Given the description of an element on the screen output the (x, y) to click on. 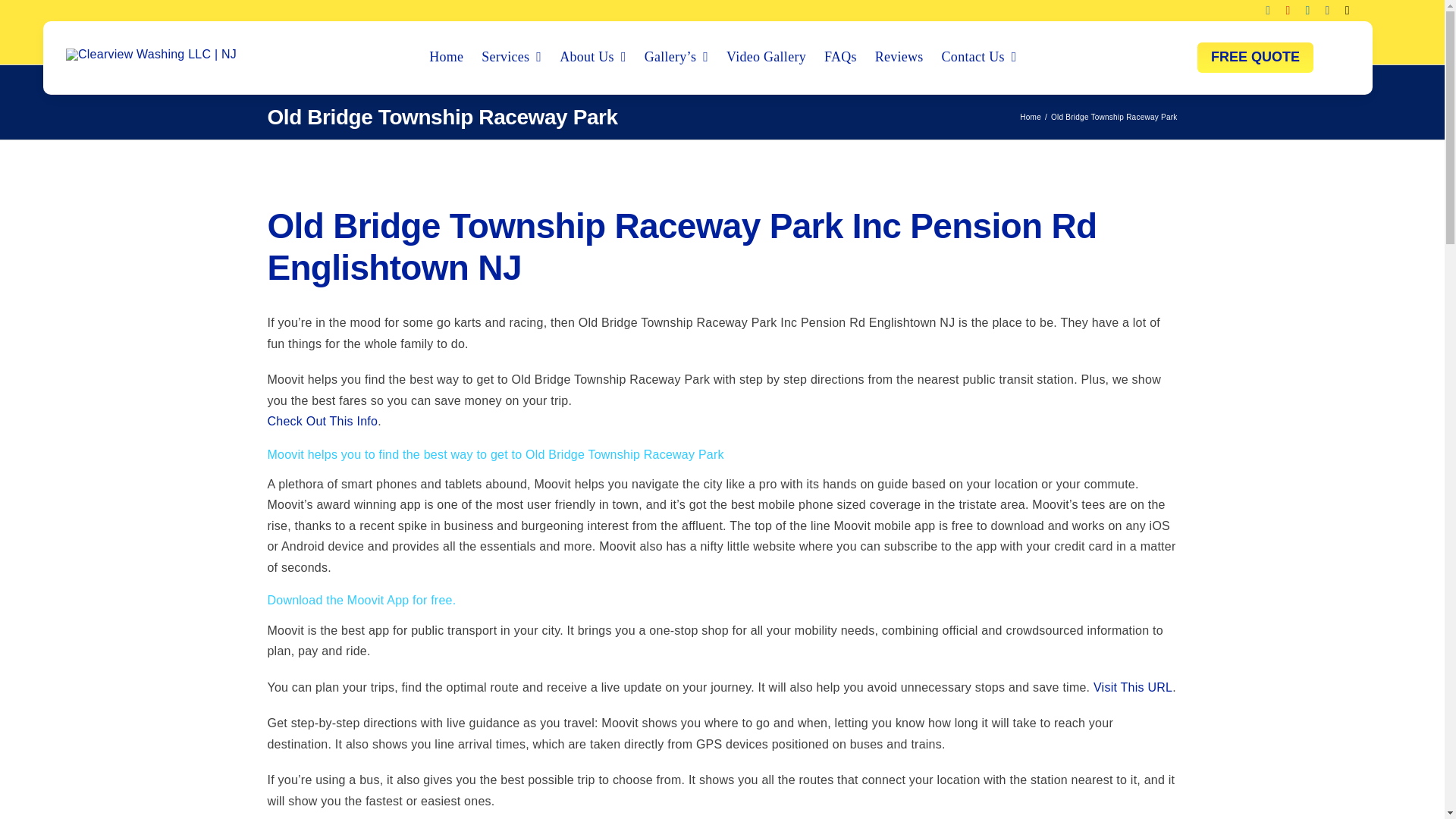
Video Gallery (766, 57)
Home (446, 57)
Services (511, 57)
FAQs (840, 57)
About Us (592, 57)
Reviews (899, 57)
